Given the description of an element on the screen output the (x, y) to click on. 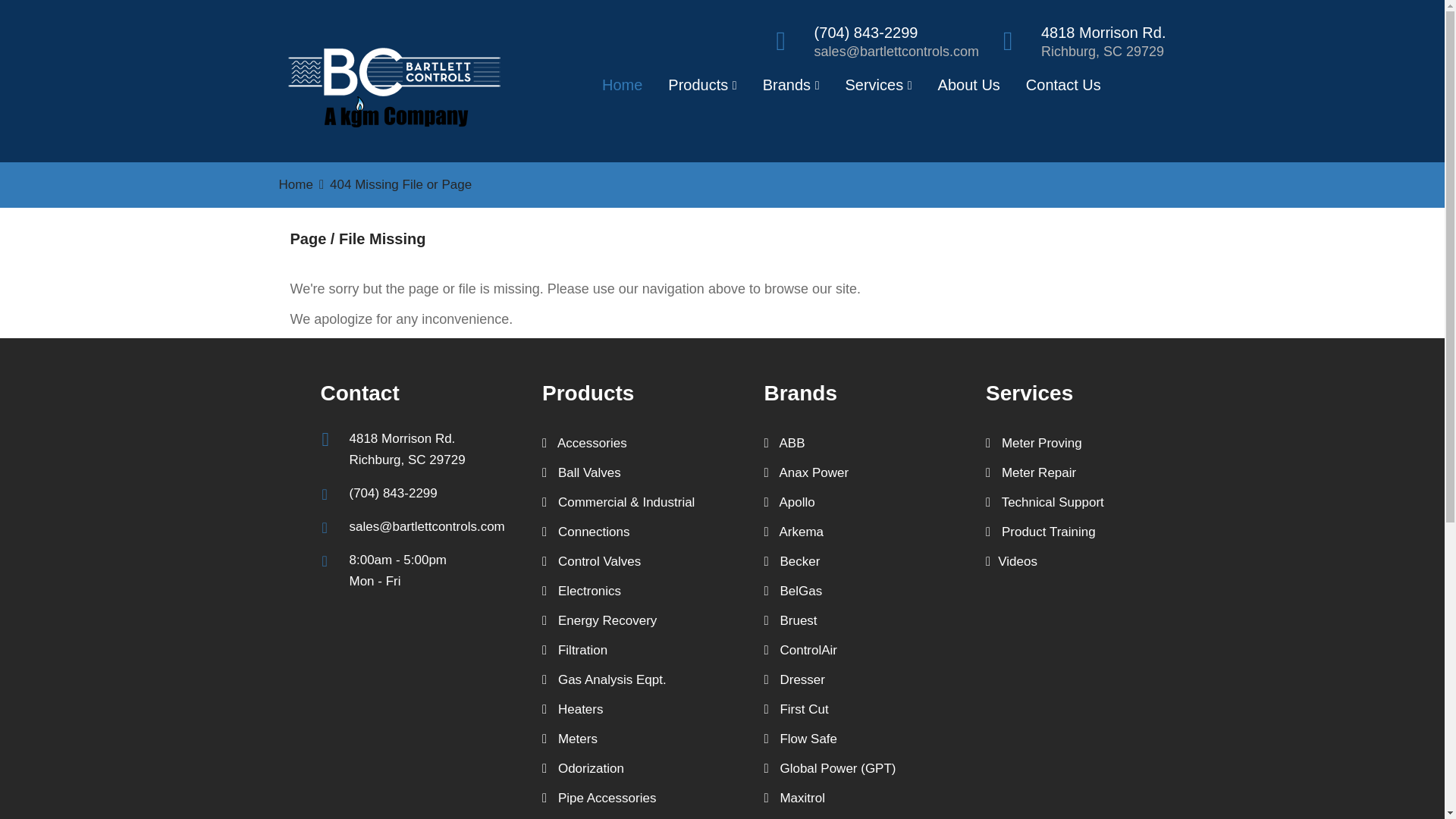
Brands (791, 90)
Products (702, 90)
Home (621, 90)
